Given the description of an element on the screen output the (x, y) to click on. 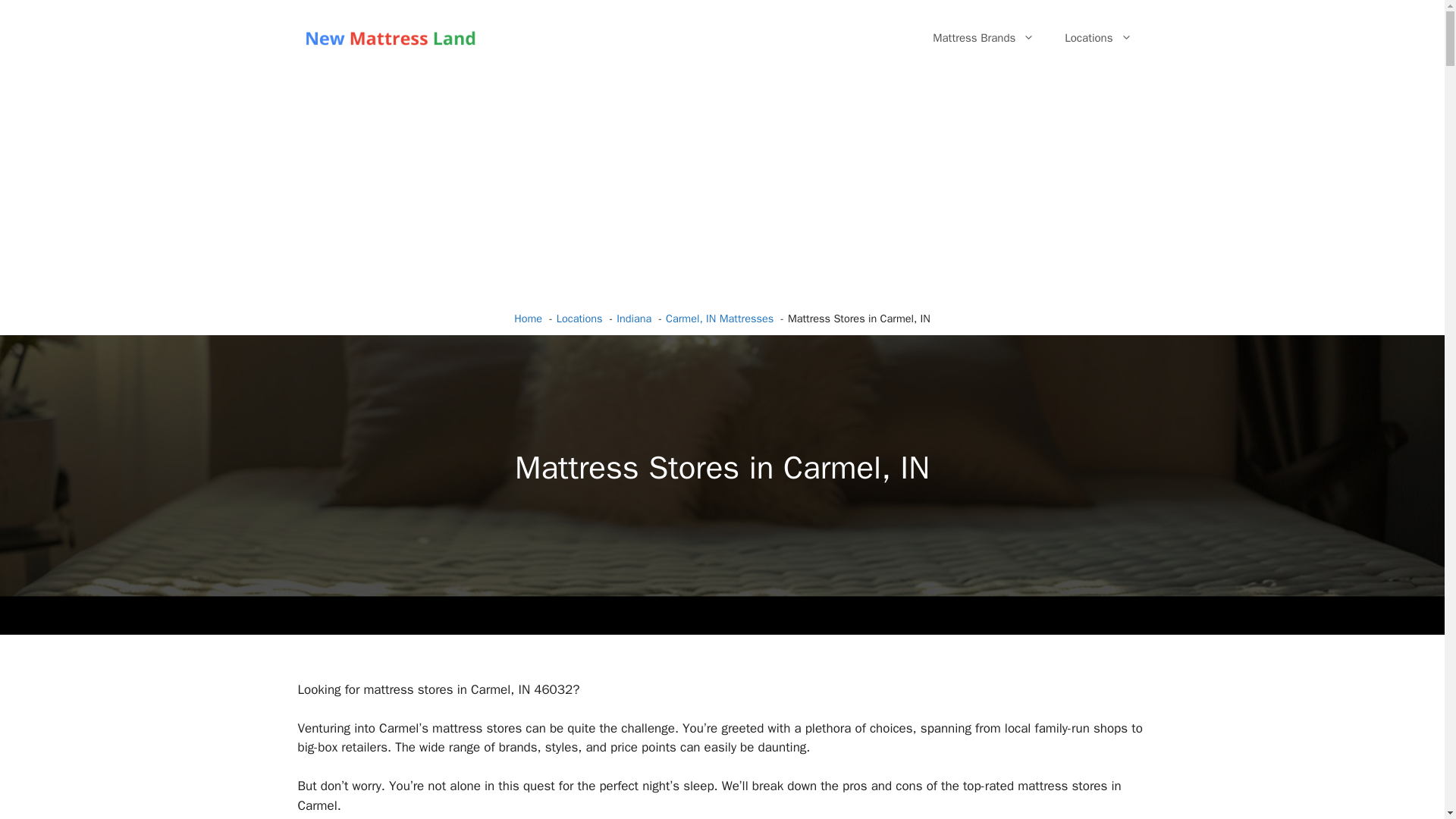
Mattress Brands (983, 37)
Locations (1098, 37)
